Given the description of an element on the screen output the (x, y) to click on. 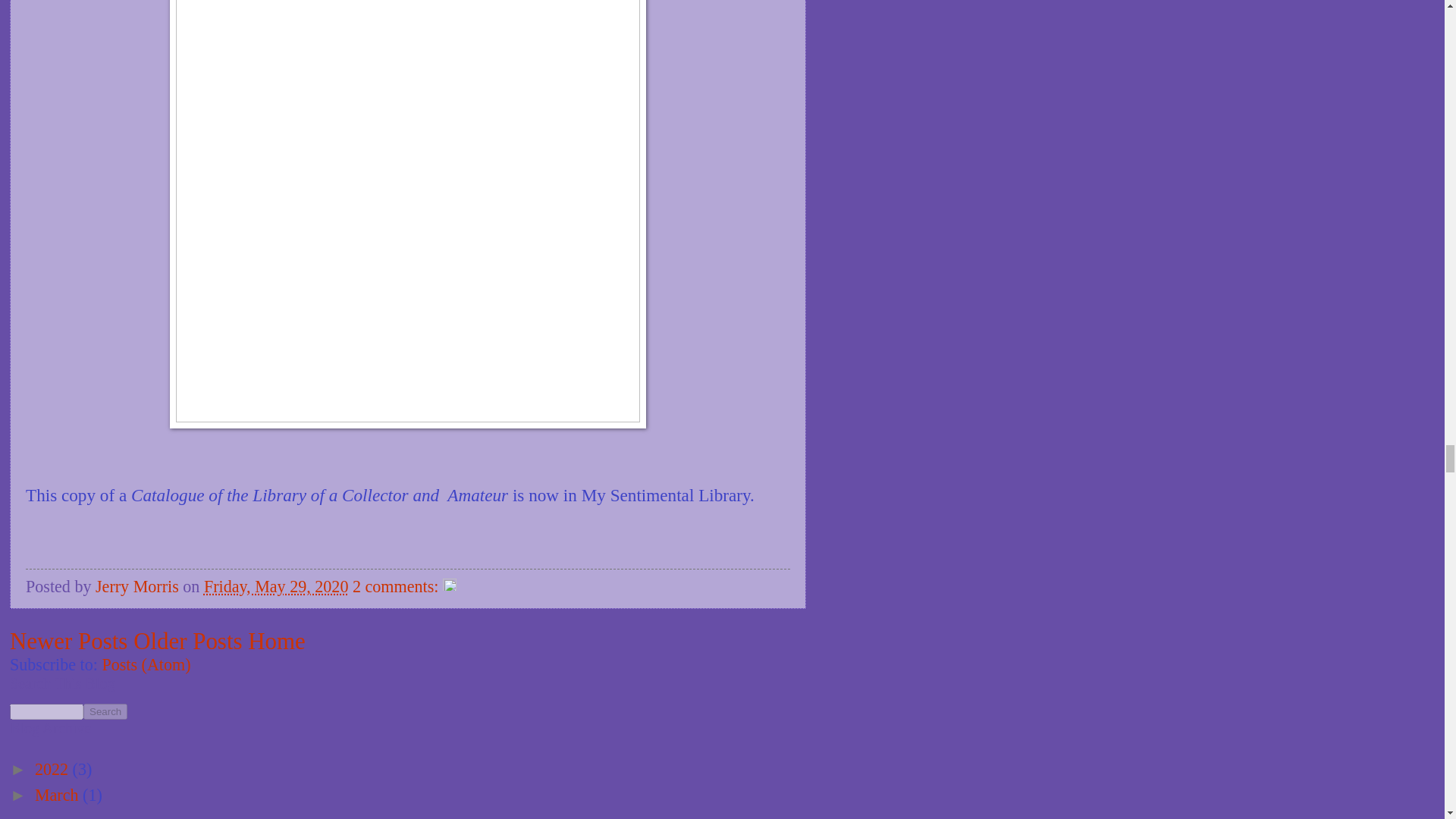
Search (105, 711)
Older Posts (187, 641)
Newer Posts (69, 641)
March (58, 794)
Search (105, 711)
search (46, 711)
Search (105, 711)
2 comments: (397, 586)
author profile (139, 586)
permanent link (276, 586)
search (105, 711)
Older Posts (187, 641)
2022 (53, 769)
Friday, May 29, 2020 (276, 586)
Newer Posts (69, 641)
